Given the description of an element on the screen output the (x, y) to click on. 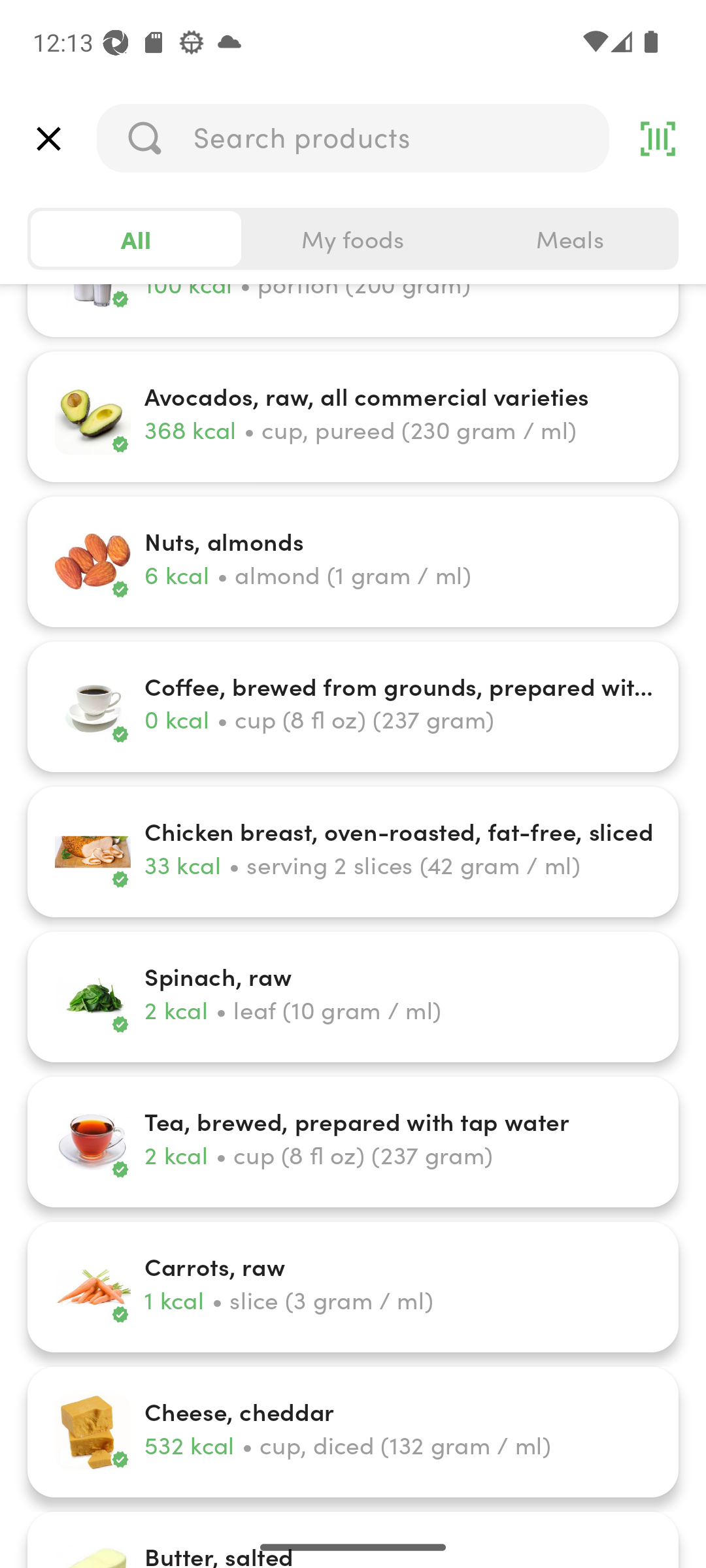
top_left_action (48, 138)
top_right_action (658, 138)
My foods (352, 238)
Meals (569, 238)
Nuts, almonds 6 kcal  • almond (1 gram / ml) (352, 562)
Spinach, raw 2 kcal  • leaf (10 gram / ml) (352, 997)
Carrots, raw 1 kcal  • slice (3 gram / ml) (352, 1286)
